Given the description of an element on the screen output the (x, y) to click on. 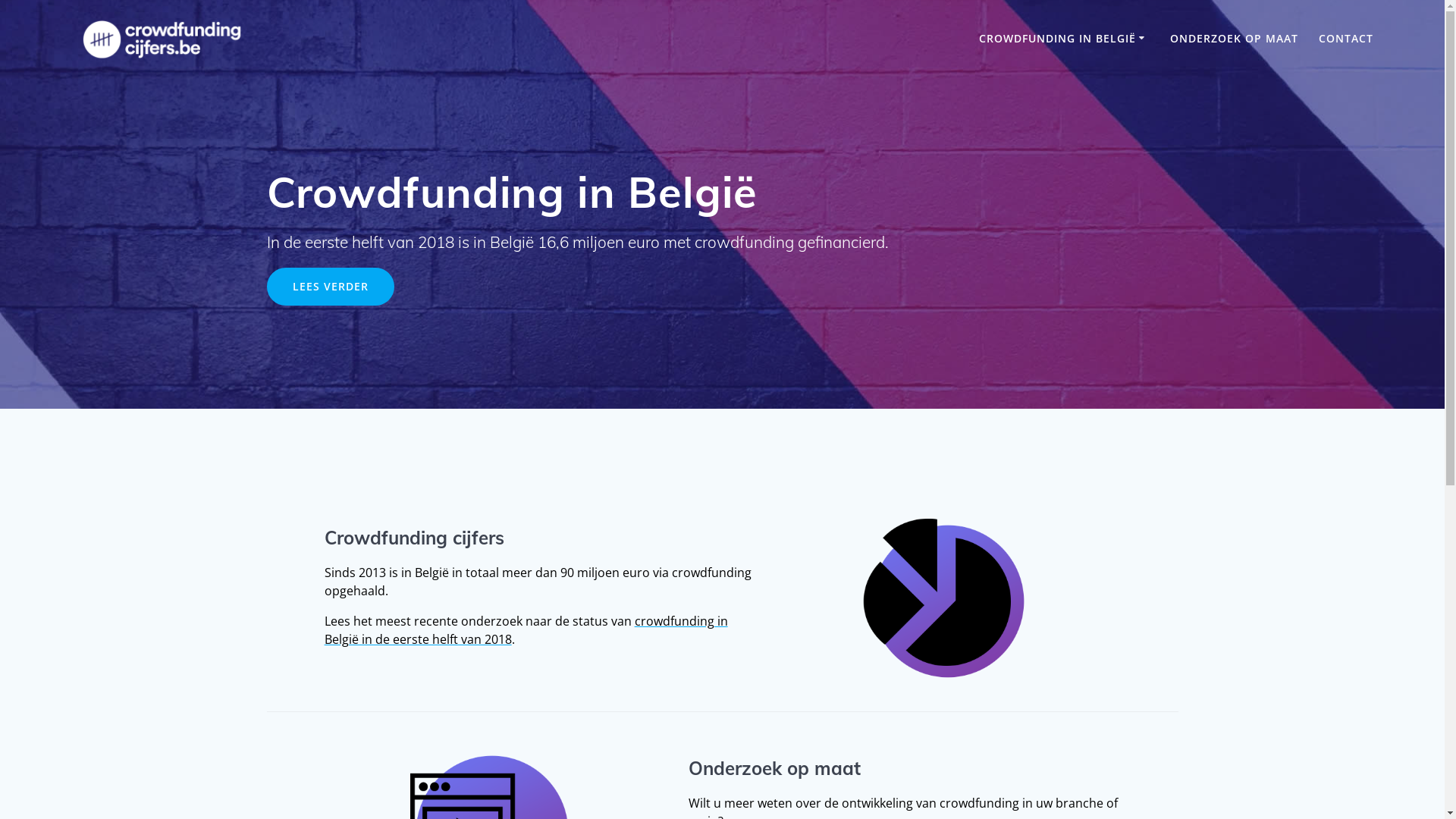
CONTACT Element type: text (1345, 38)
ONDERZOEK OP MAAT Element type: text (1234, 38)
LEES VERDER Element type: text (330, 286)
